Given the description of an element on the screen output the (x, y) to click on. 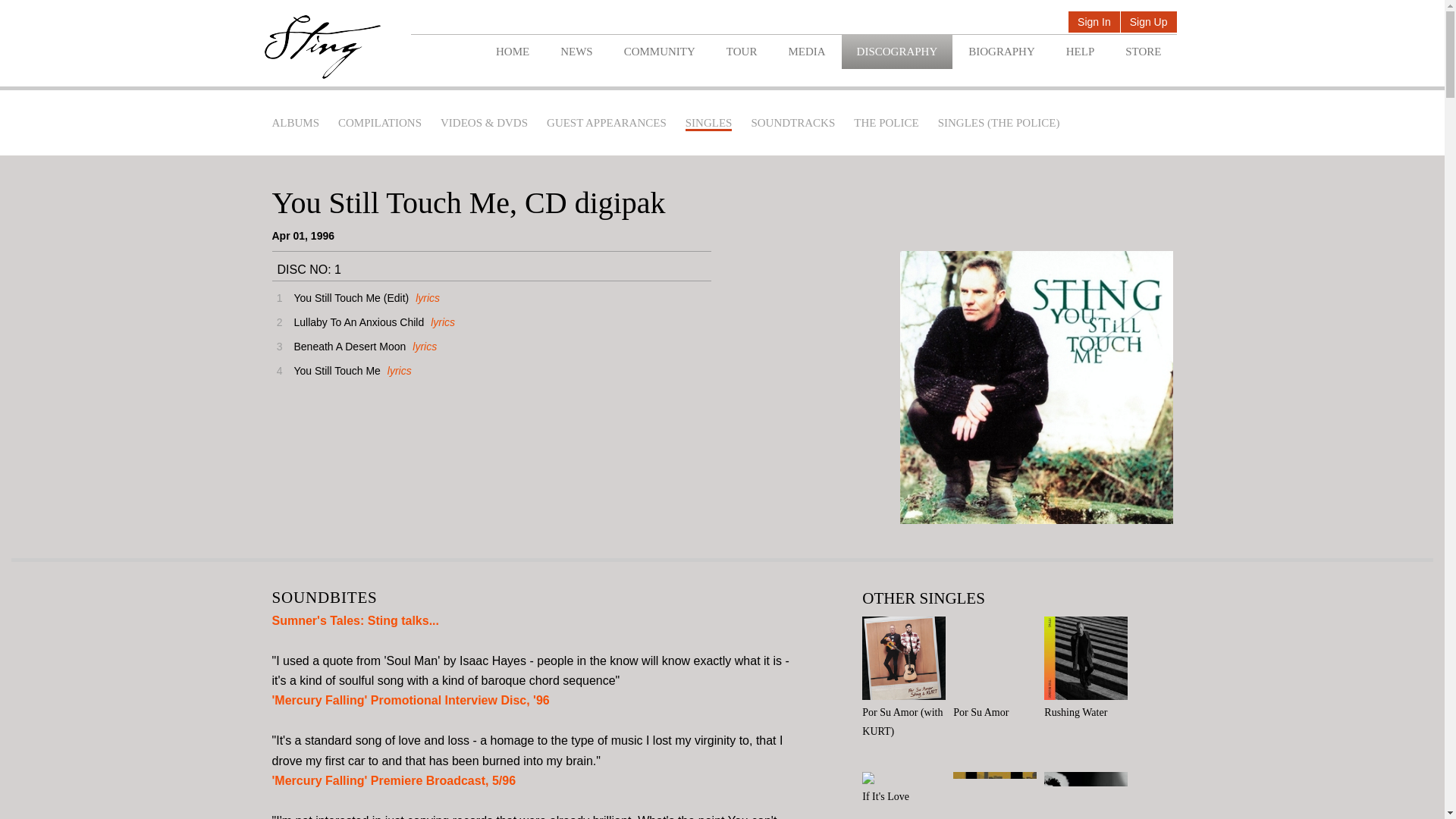
MEDIA (806, 51)
Sting (321, 46)
DISCOGRAPHY (897, 51)
ALBUMS (294, 122)
lyrics (422, 346)
BIOGRAPHY (1001, 51)
If It's Love (907, 789)
HELP (1080, 51)
lyrics (398, 370)
SINGLES (708, 124)
lyrics (440, 322)
lyrics (425, 297)
Sign Up (1148, 22)
GUEST APPEARANCES (606, 122)
THE POLICE (885, 122)
